Given the description of an element on the screen output the (x, y) to click on. 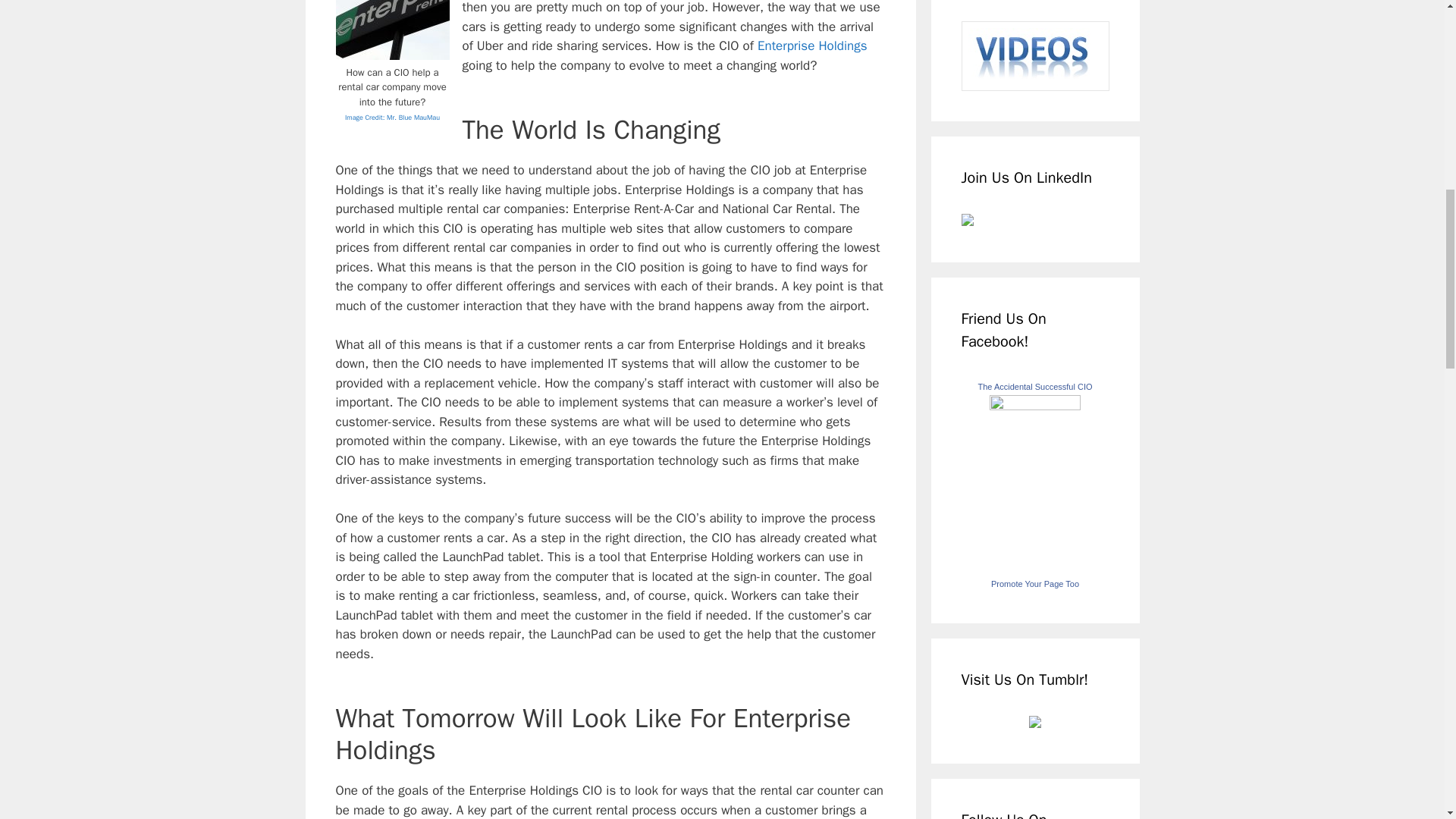
Enterprise Holdings (812, 45)
Who is Enterprise Holdings? (812, 45)
Make your own badge! (1034, 583)
The Accidental Successful CIO (1035, 406)
The Accidental Successful CIO (1034, 386)
Image Credit: Mr. Blue MauMau (392, 115)
